Given the description of an element on the screen output the (x, y) to click on. 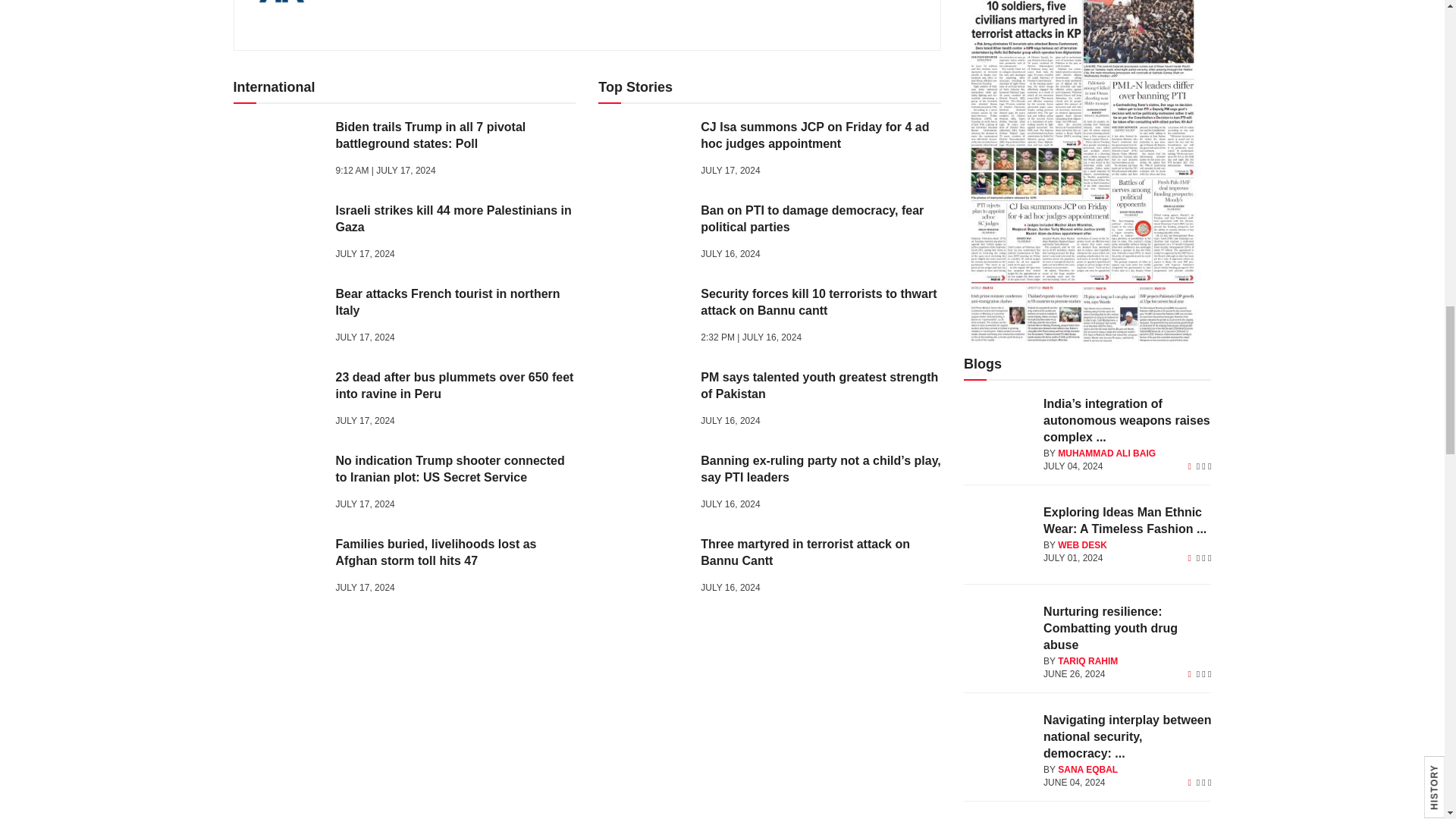
CJ Isa summons JCP on Friday for 4 ad hoc judges appointment (643, 150)
Israeli strikes kill 44 more Palestinians in Gaza (278, 234)
Ban on PTI to damage democracy, fear political parties (643, 234)
23 dead after bus plummets over 650 feet into ravine in Peru (278, 401)
Three martyred in terrorist attack on Bannu Cantt (643, 568)
PM says talented youth greatest strength of Pakistan (643, 401)
Bear attacks French tourist in northern Italy (278, 317)
